Given the description of an element on the screen output the (x, y) to click on. 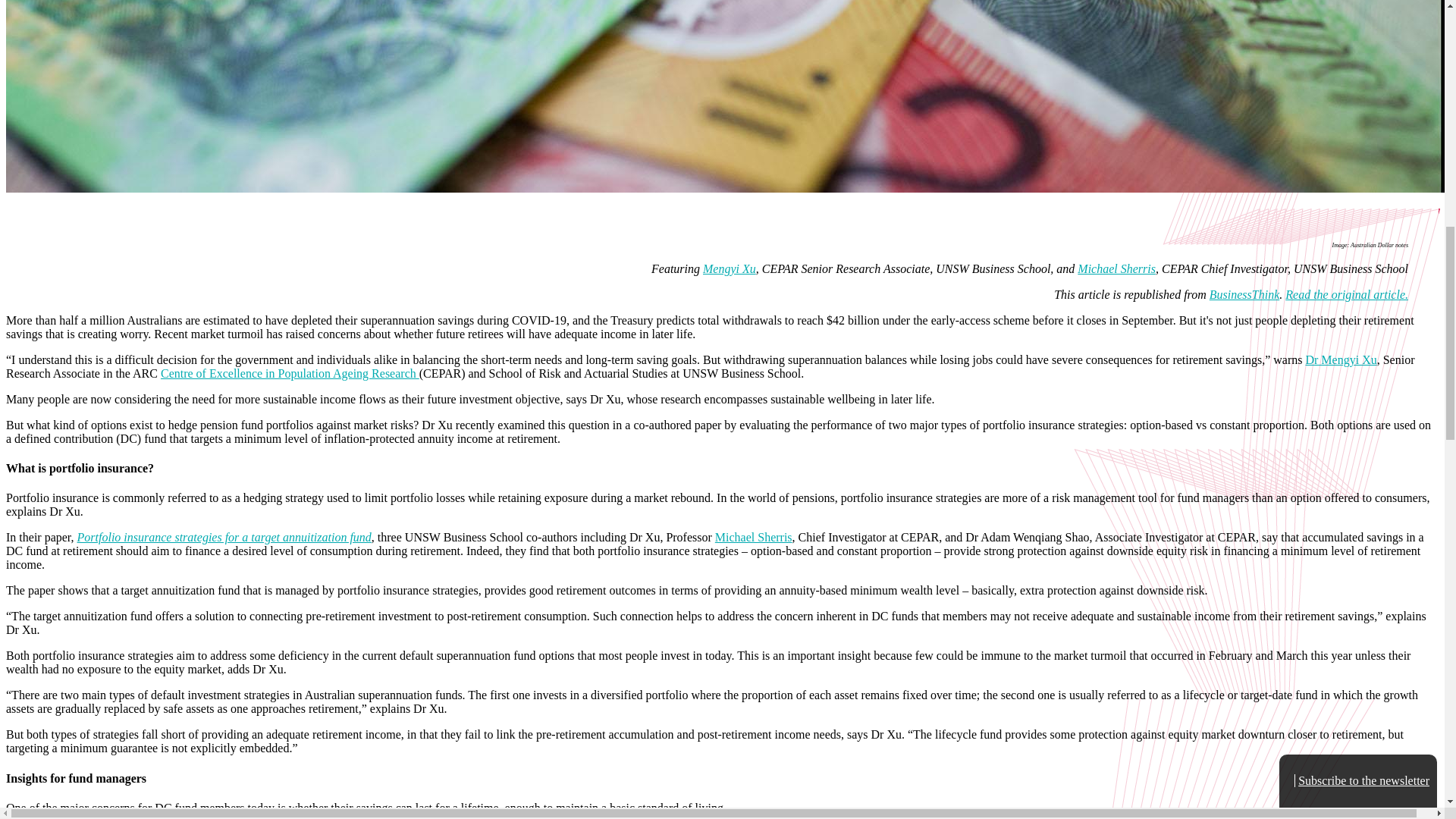
Read the original article. (1346, 294)
BusinessThink (1244, 294)
Michael Sherris (1116, 268)
Mengyi Xu (729, 268)
